Given the description of an element on the screen output the (x, y) to click on. 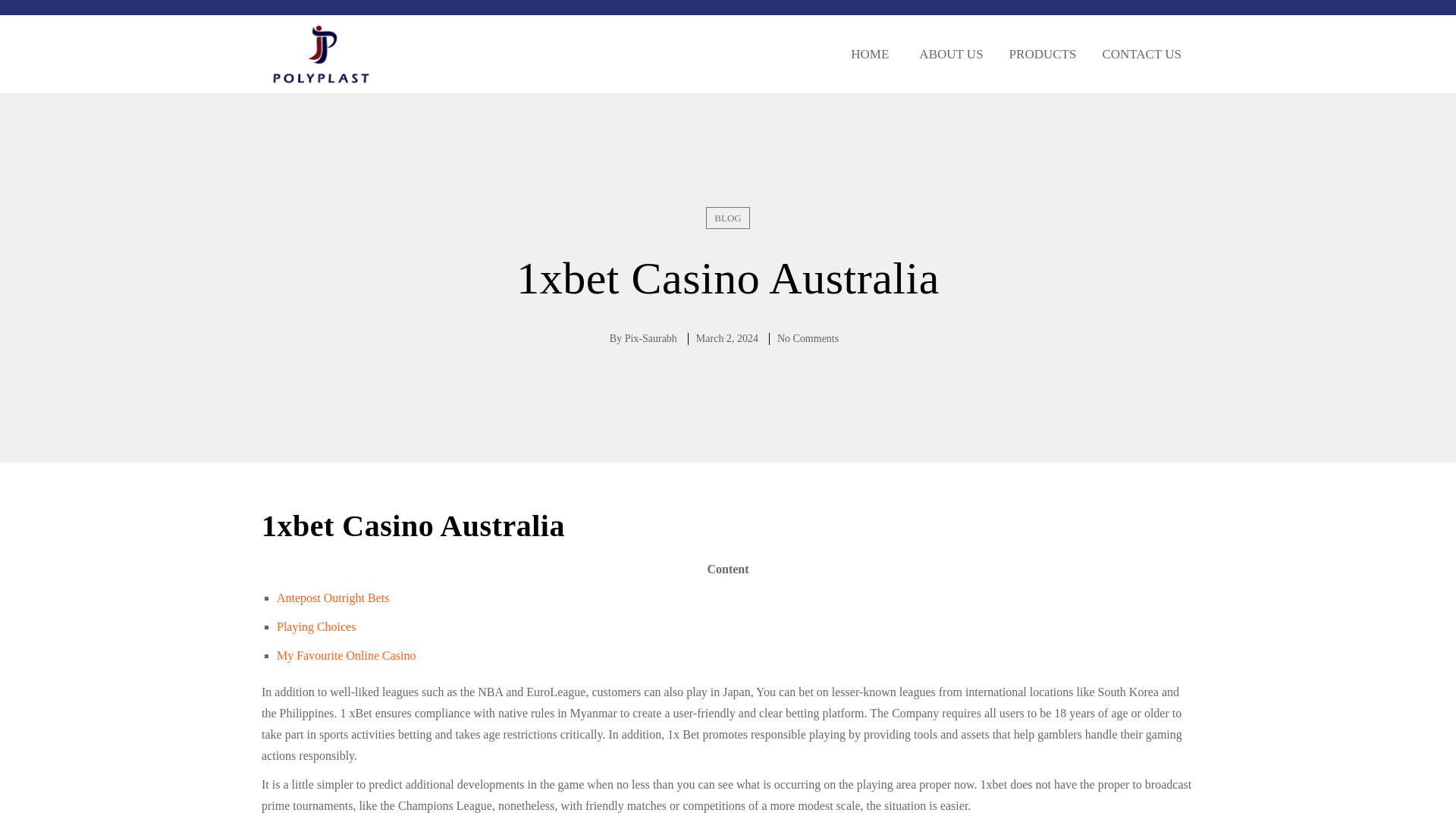
BLOG (727, 218)
Antepost Outright Bets (332, 597)
No Comments (807, 337)
Pix-Saurabh (650, 337)
CONTACT US (1141, 54)
ABOUT US (948, 54)
View all posts by pix-saurabh (650, 337)
Playing Choices (315, 626)
HOME (866, 54)
JP Polyplast (321, 54)
My Favourite Online Casino (346, 655)
PRODUCTS (1042, 54)
